Given the description of an element on the screen output the (x, y) to click on. 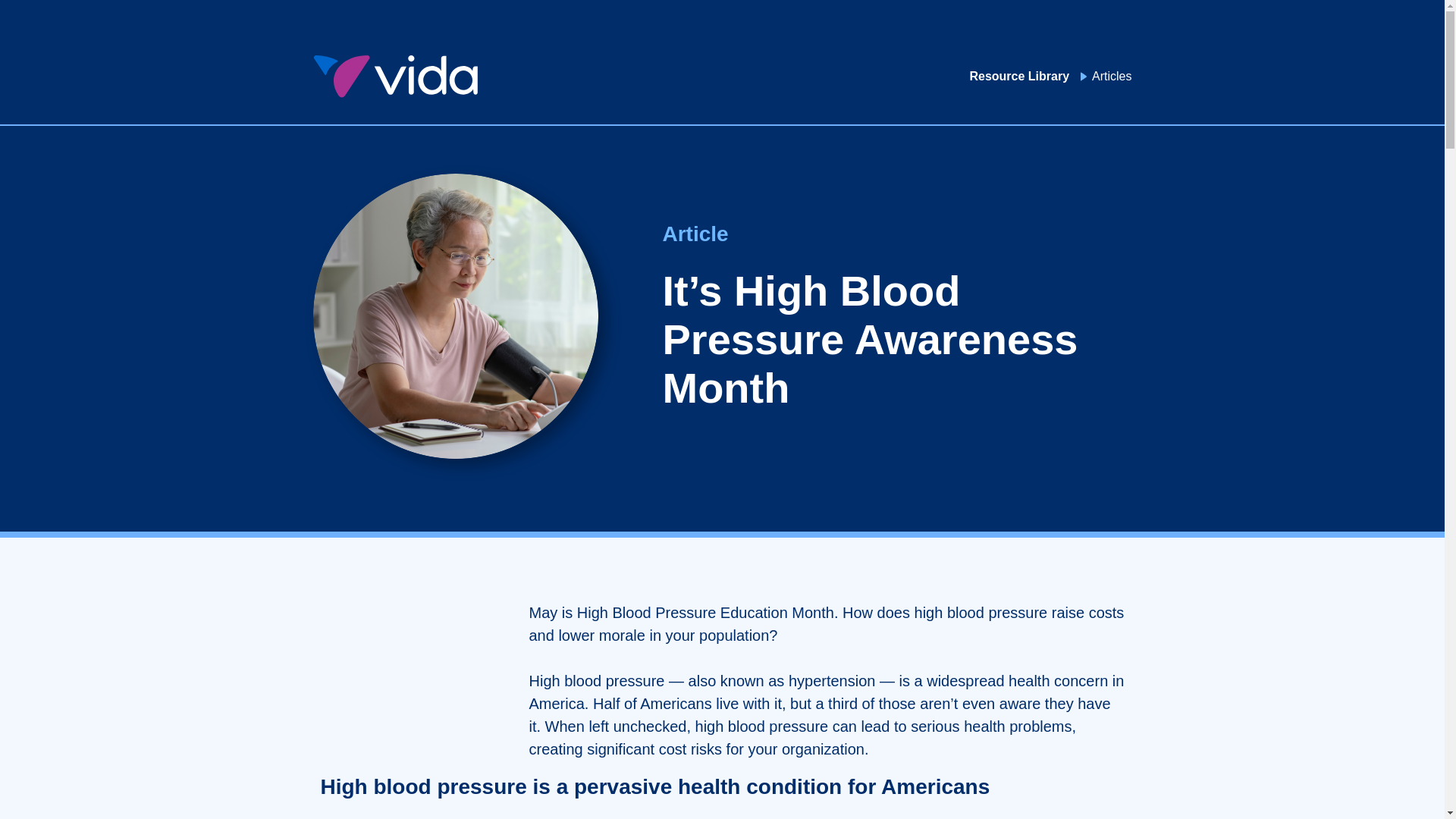
Resource Library (1018, 75)
Half of Americans (651, 703)
High Blood Pressure Education Month (705, 612)
third (842, 703)
